Given the description of an element on the screen output the (x, y) to click on. 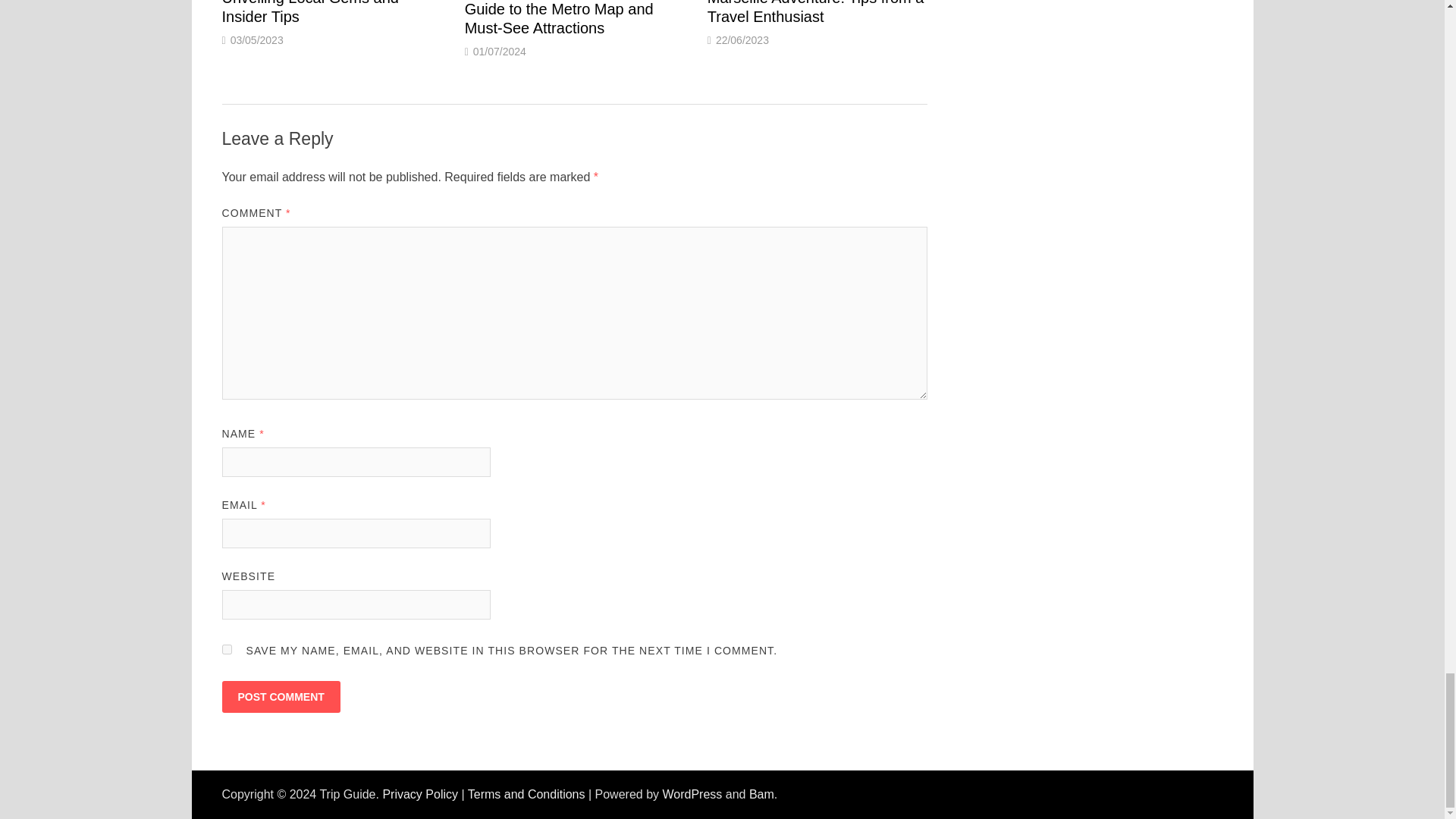
Post Comment (280, 696)
Post Comment (280, 696)
yes (226, 649)
